Given the description of an element on the screen output the (x, y) to click on. 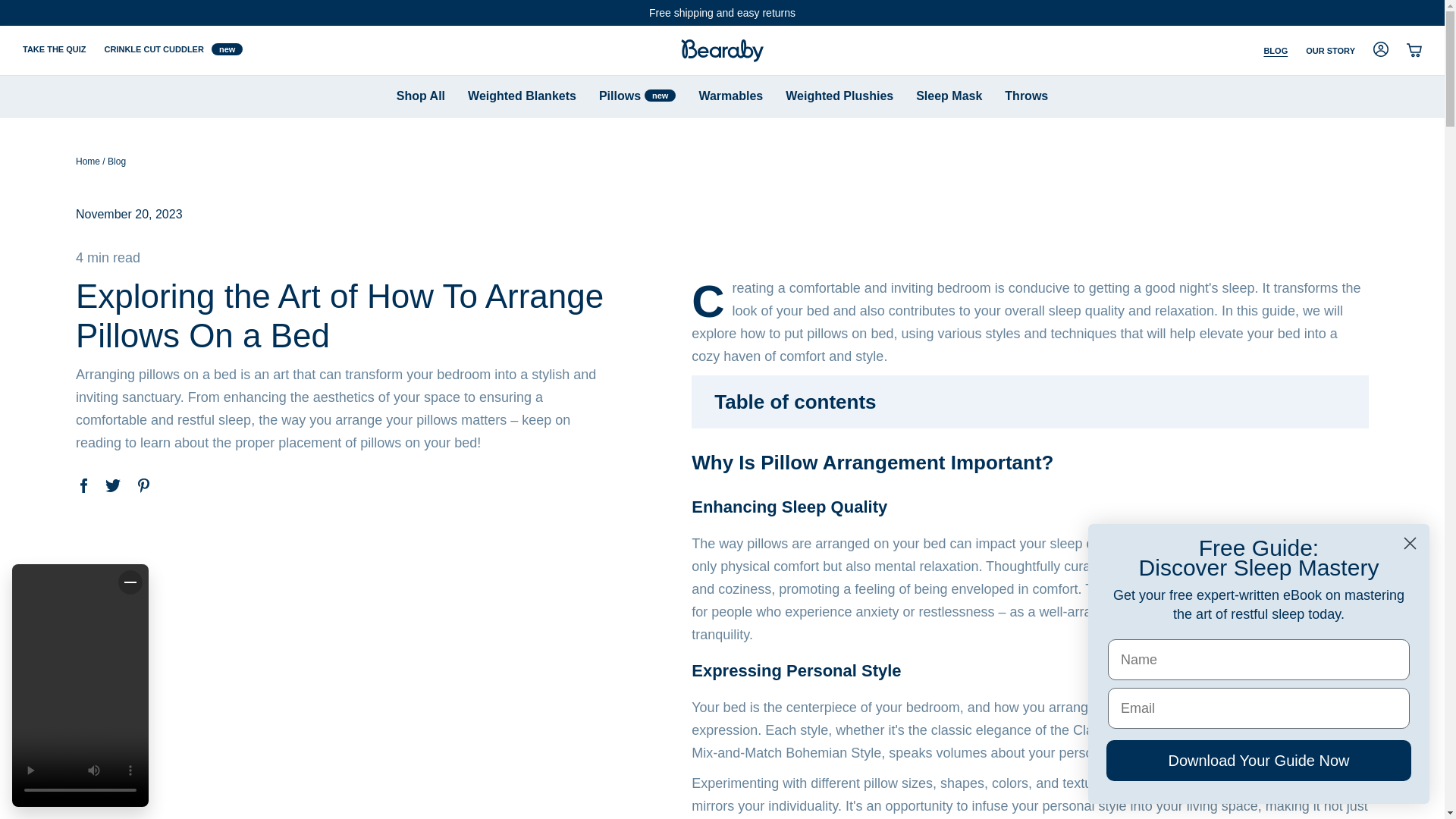
Free shipping and easy returns (721, 13)
Close dialog 1 (1409, 542)
